Given the description of an element on the screen output the (x, y) to click on. 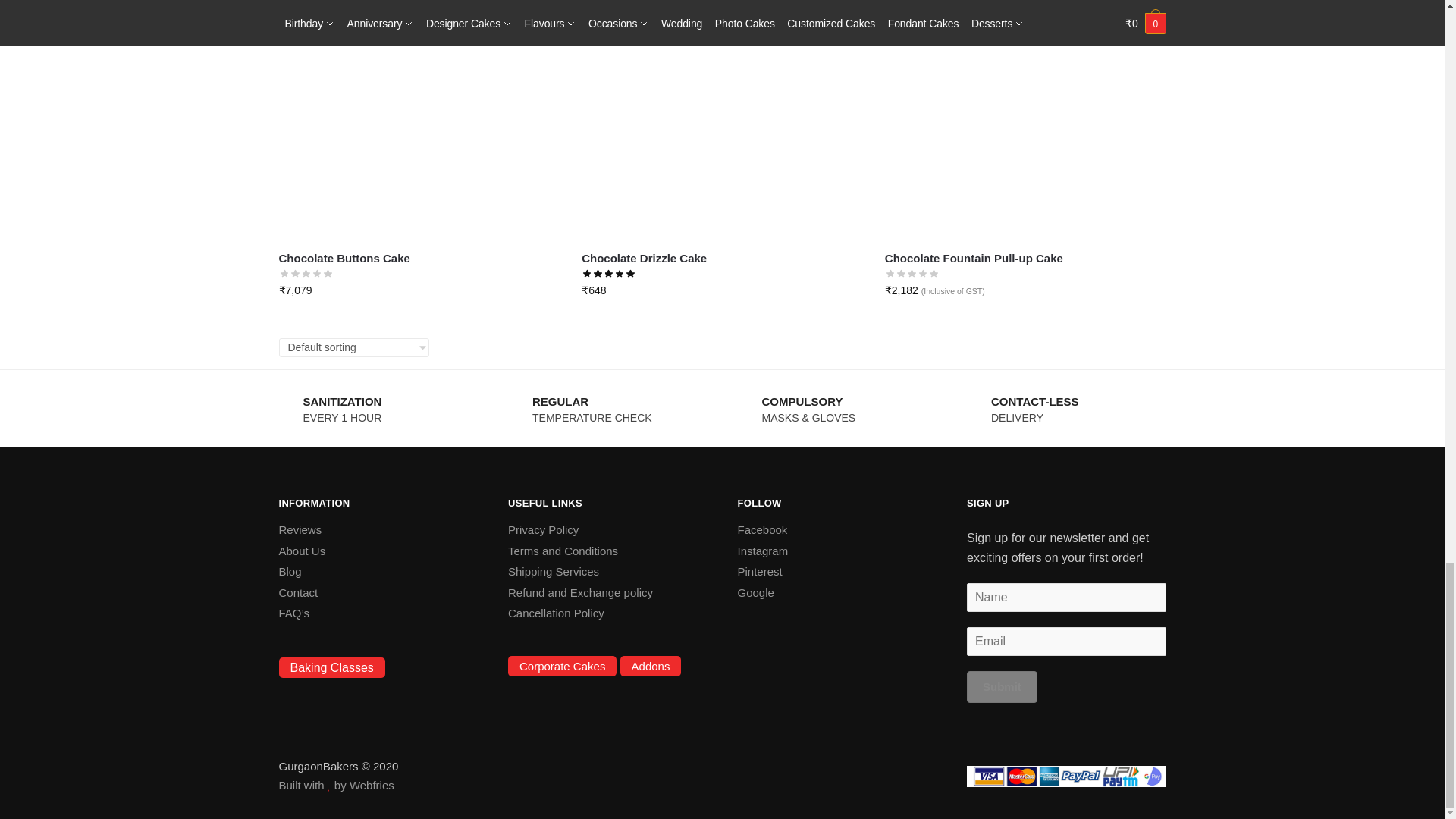
Chocolate Fountain Pull-up Cake (1025, 120)
Chocolate Drizzle Cake (720, 120)
Chocolate Buttons Cake (419, 120)
